Given the description of an element on the screen output the (x, y) to click on. 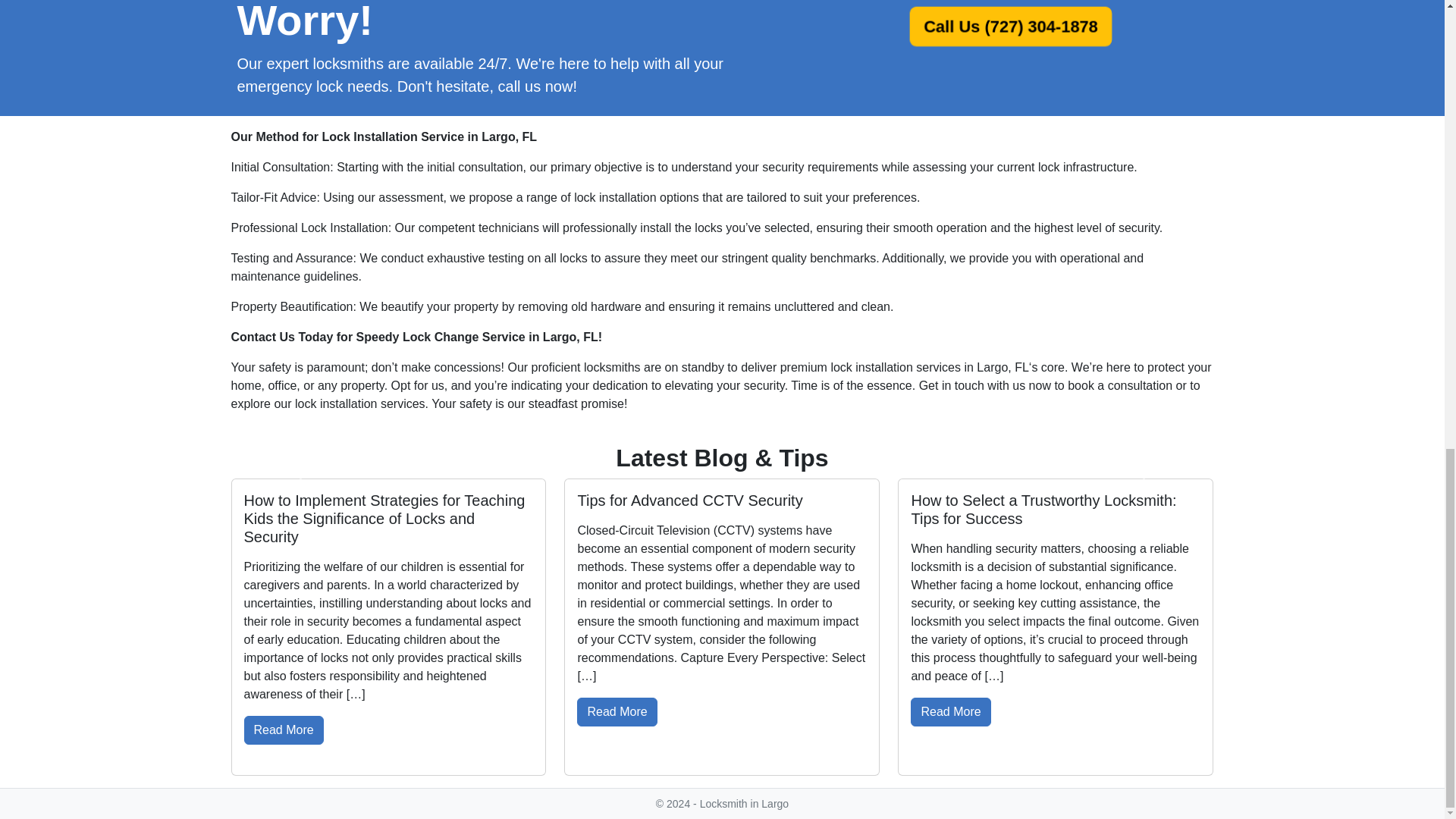
Read More (283, 729)
Read More (950, 711)
Read More (616, 711)
